Given the description of an element on the screen output the (x, y) to click on. 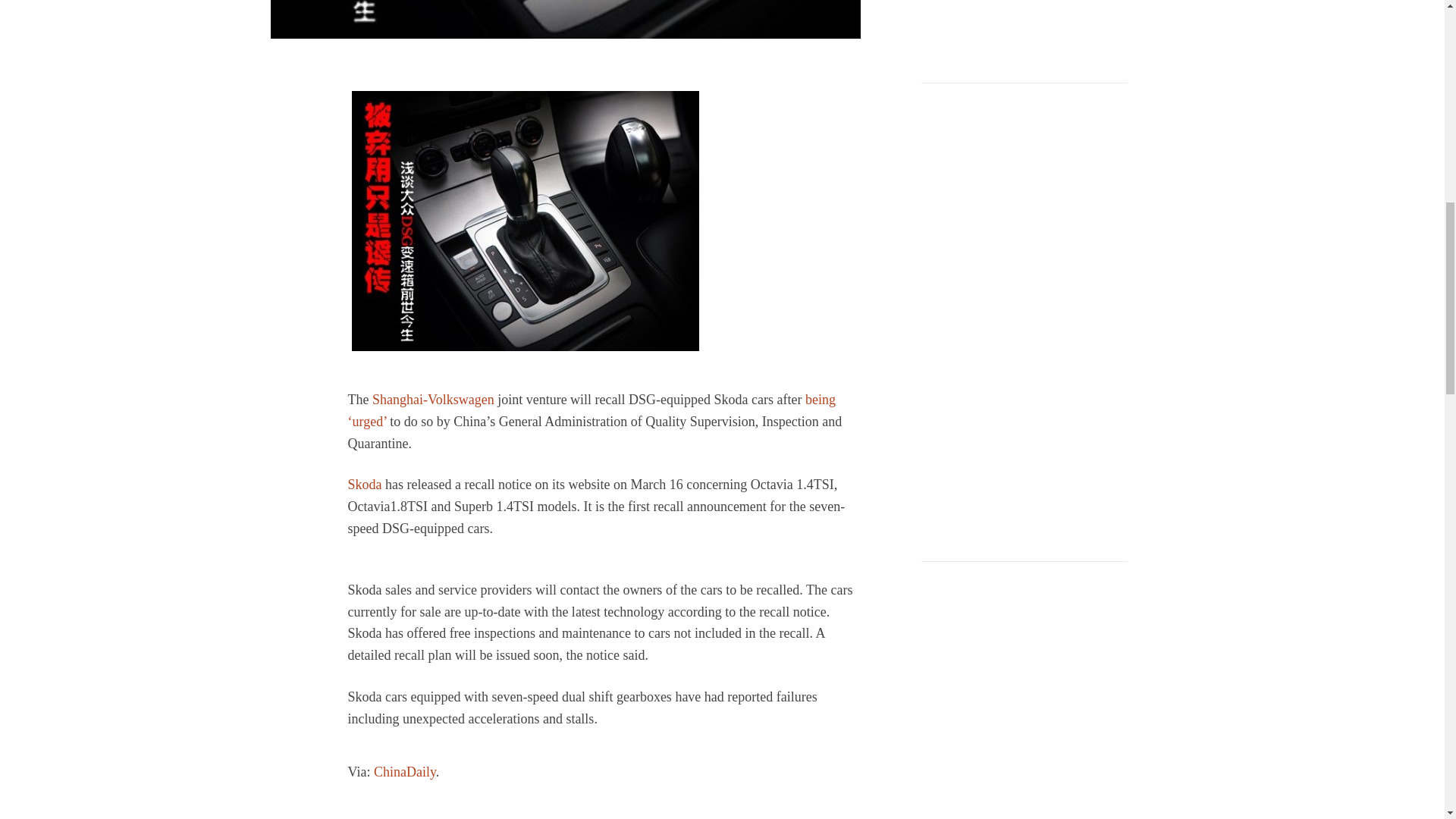
volkswagen-skoda-dsg-china-1 (564, 19)
Volkswagen Skoda DSG China (525, 220)
